Given the description of an element on the screen output the (x, y) to click on. 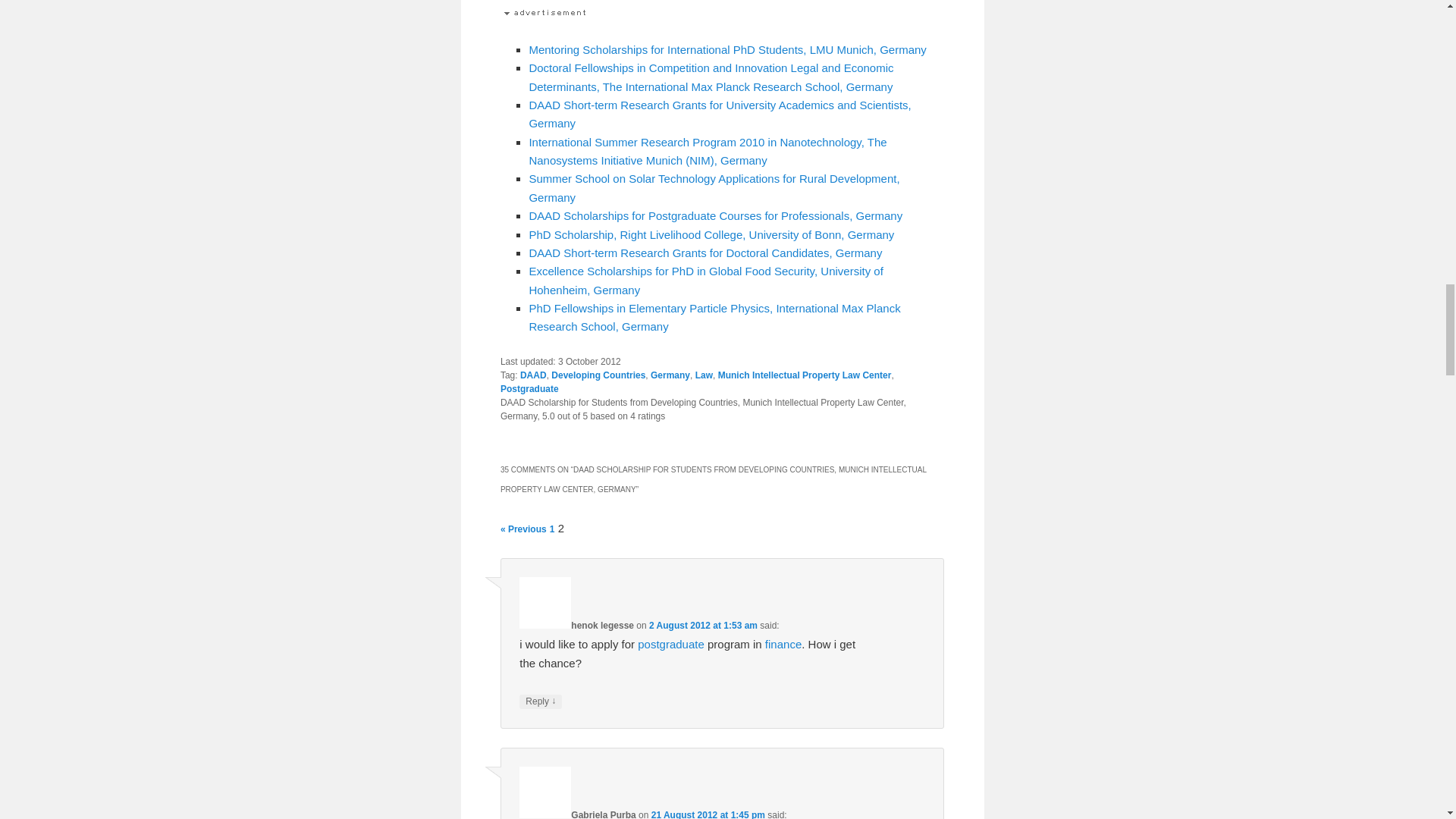
Developing Countries (598, 375)
DAAD (533, 375)
